Given the description of an element on the screen output the (x, y) to click on. 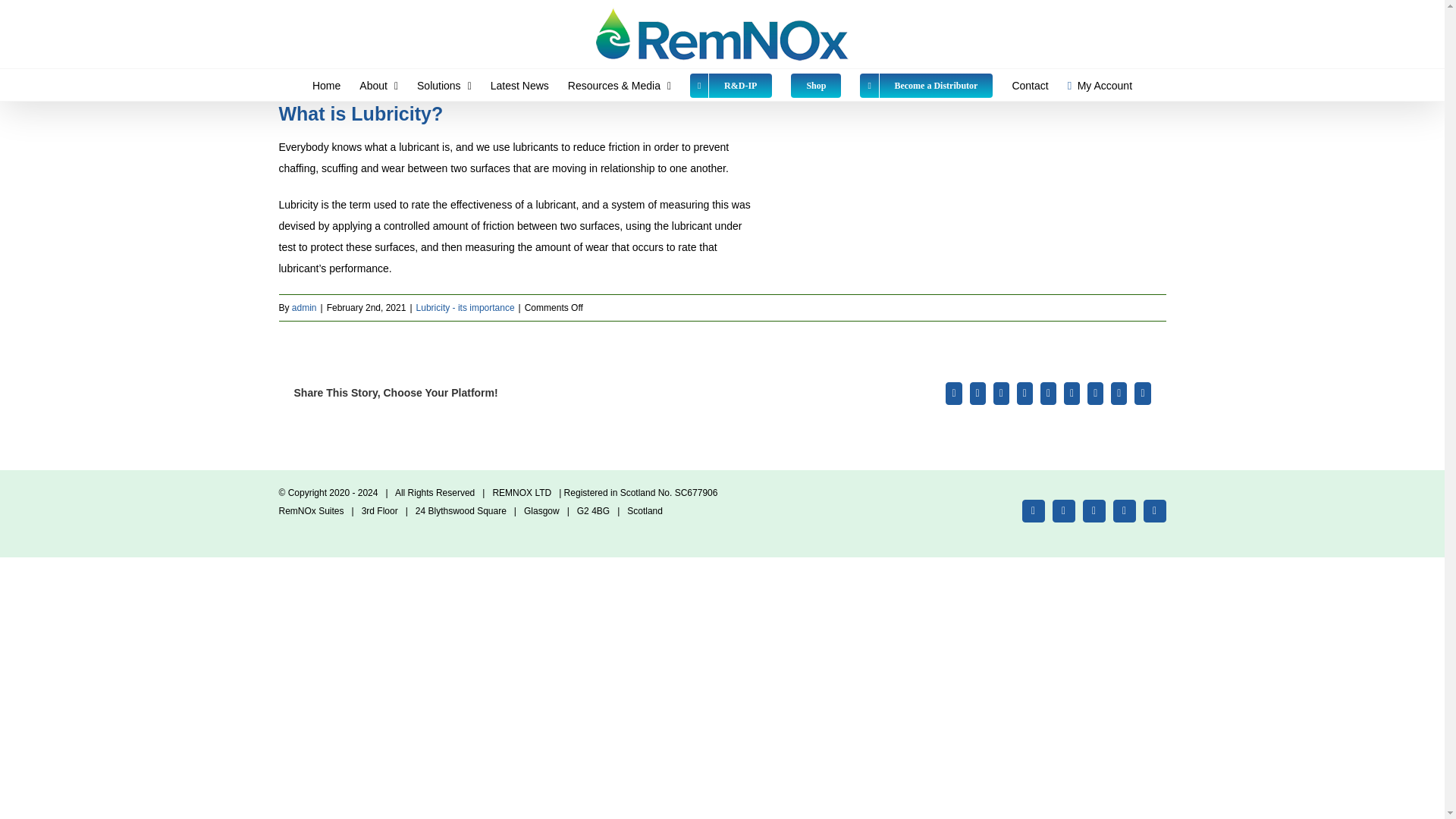
Lubricity - its importance (465, 307)
Facebook (1033, 509)
YouTube (1094, 509)
Become a Distributor (926, 84)
My Account (1099, 84)
Contact (1029, 84)
Twitter (1063, 509)
Solutions (443, 84)
LinkedIn (1124, 509)
Latest News (519, 84)
